Given the description of an element on the screen output the (x, y) to click on. 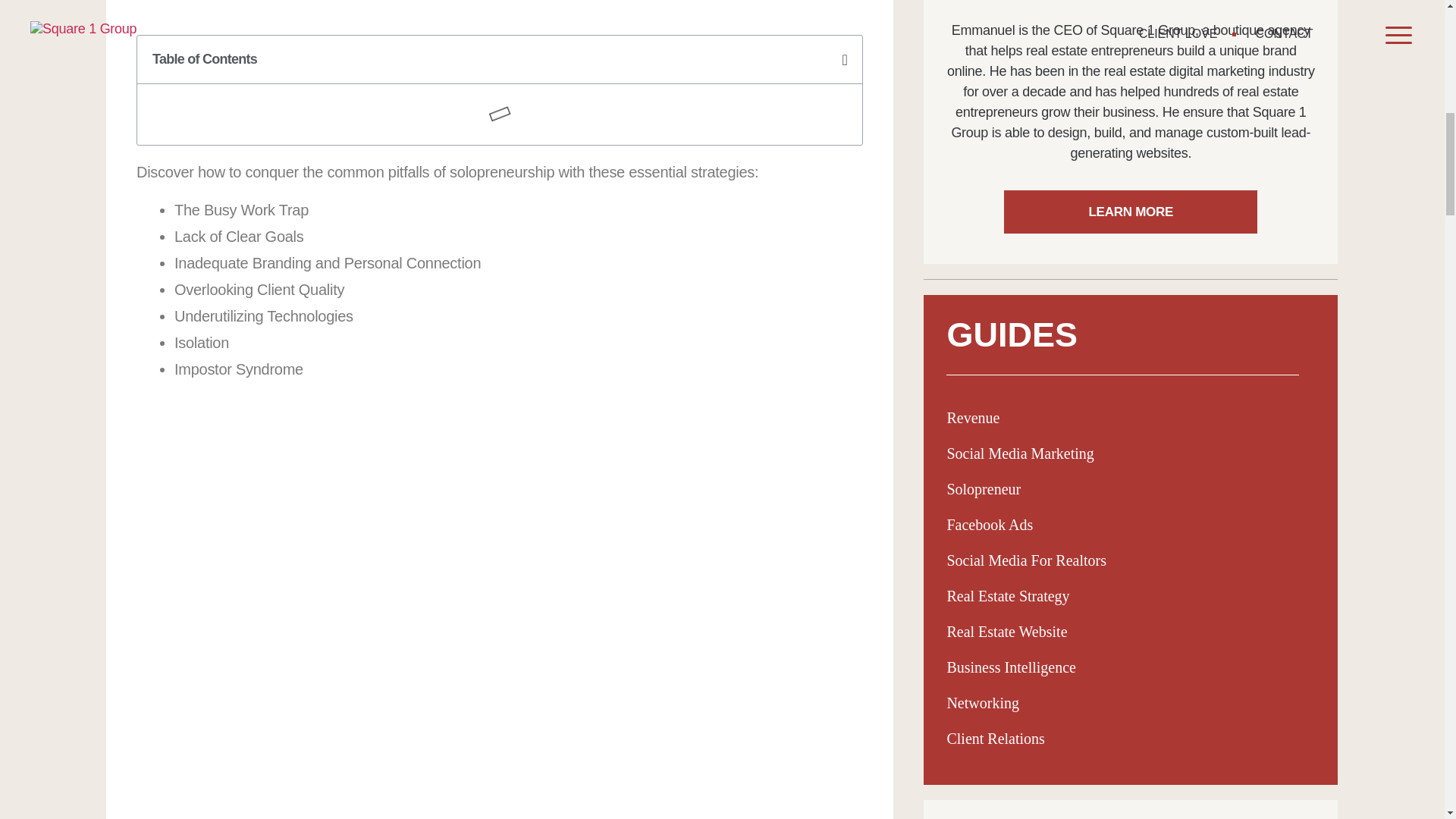
Facebook Ads (989, 524)
Real Estate Website (1006, 631)
Solopreneur (983, 488)
Revenue (972, 417)
Business Intelligence (1010, 667)
Real Estate Strategy (1007, 596)
Social Media For Realtors (1026, 560)
LEARN MORE (1130, 211)
Social Media Marketing (1019, 453)
Client Relations (994, 738)
